Given the description of an element on the screen output the (x, y) to click on. 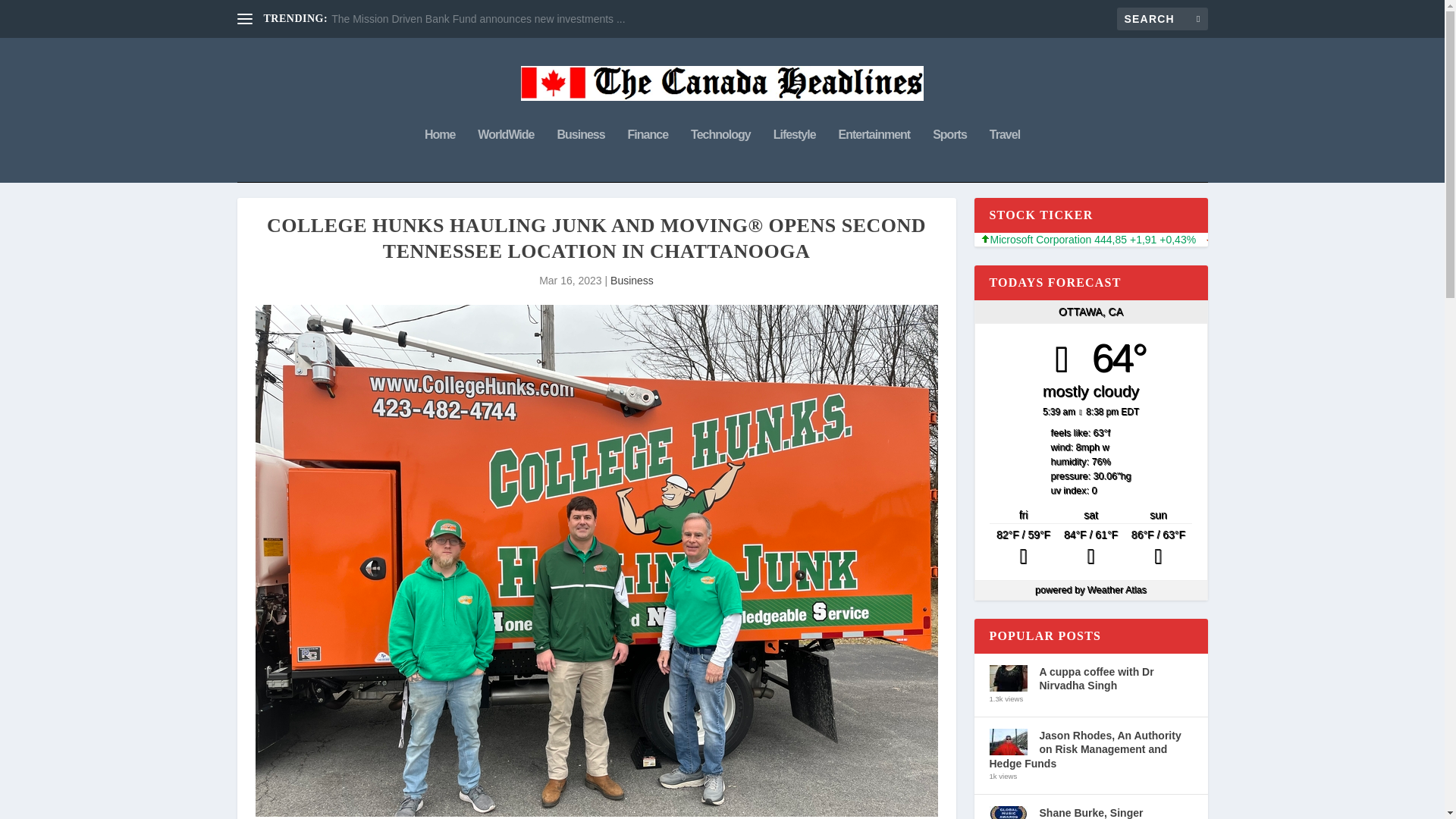
Technology (720, 154)
The Mission Driven Bank Fund announces new investments ... (478, 19)
WorldWide (505, 154)
Business (580, 154)
Business (631, 280)
Search for: (1161, 18)
Entertainment (874, 154)
